Given the description of an element on the screen output the (x, y) to click on. 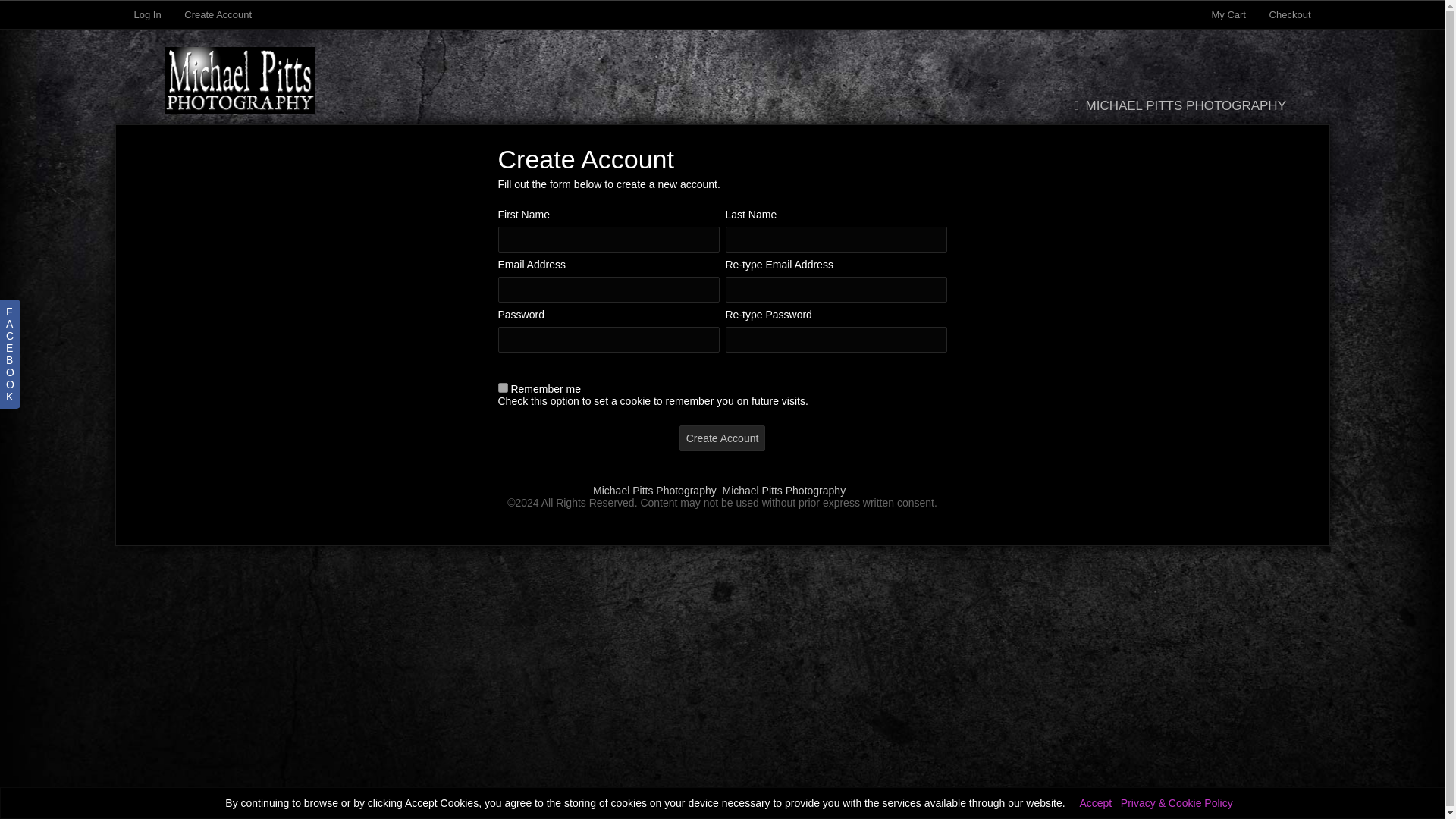
Checkout (1290, 14)
MICHAEL PITTS PHOTOGRAPHY (1176, 105)
Create Account (217, 14)
Accept (1095, 802)
Log In (146, 14)
1 (501, 388)
Michael Pitts Photography (654, 490)
Create Account (722, 438)
Michael Pitts Photography (783, 490)
My Cart (1229, 14)
Create Account (722, 438)
